Given the description of an element on the screen output the (x, y) to click on. 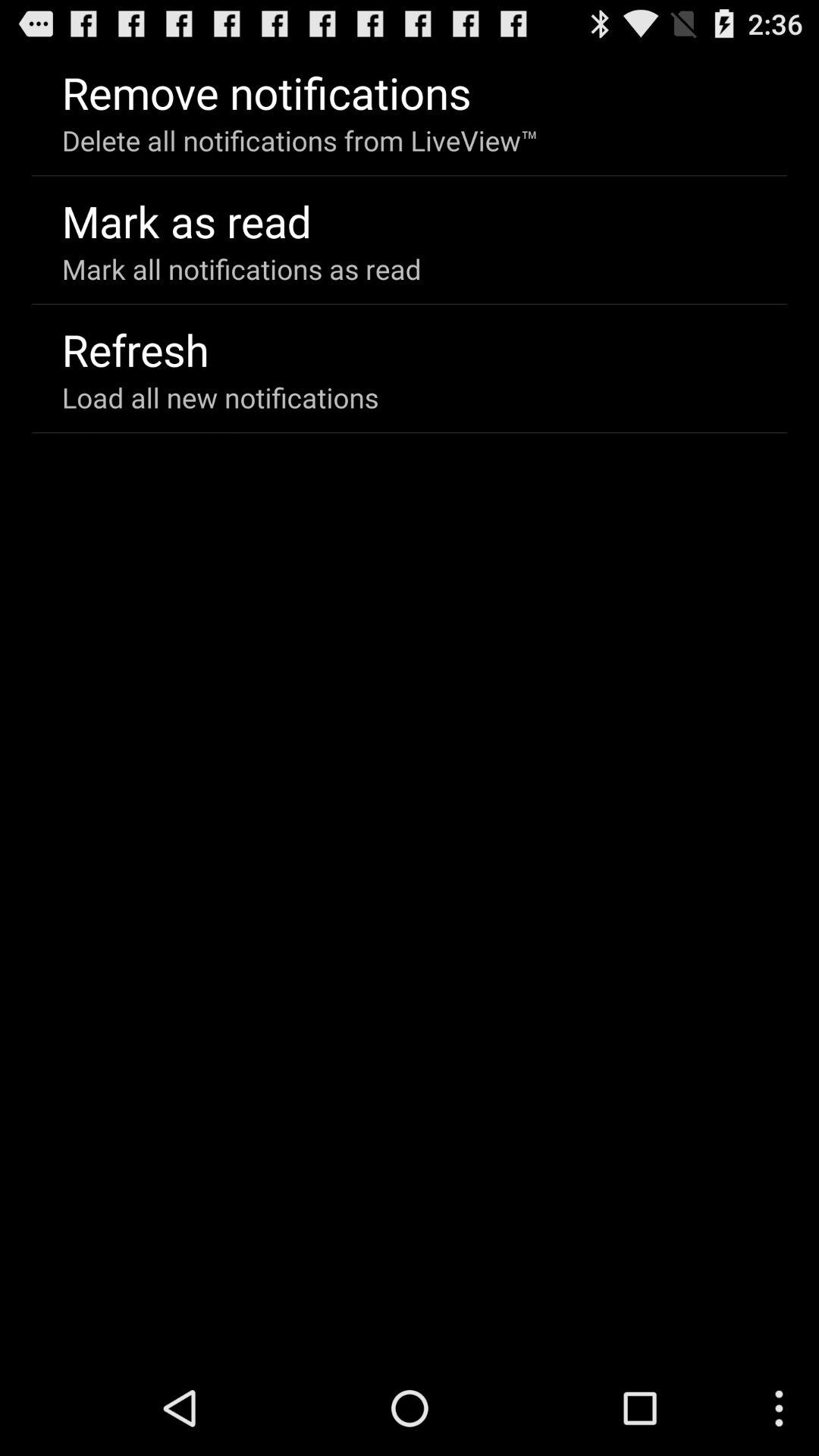
open icon above the delete all notifications app (266, 92)
